Given the description of an element on the screen output the (x, y) to click on. 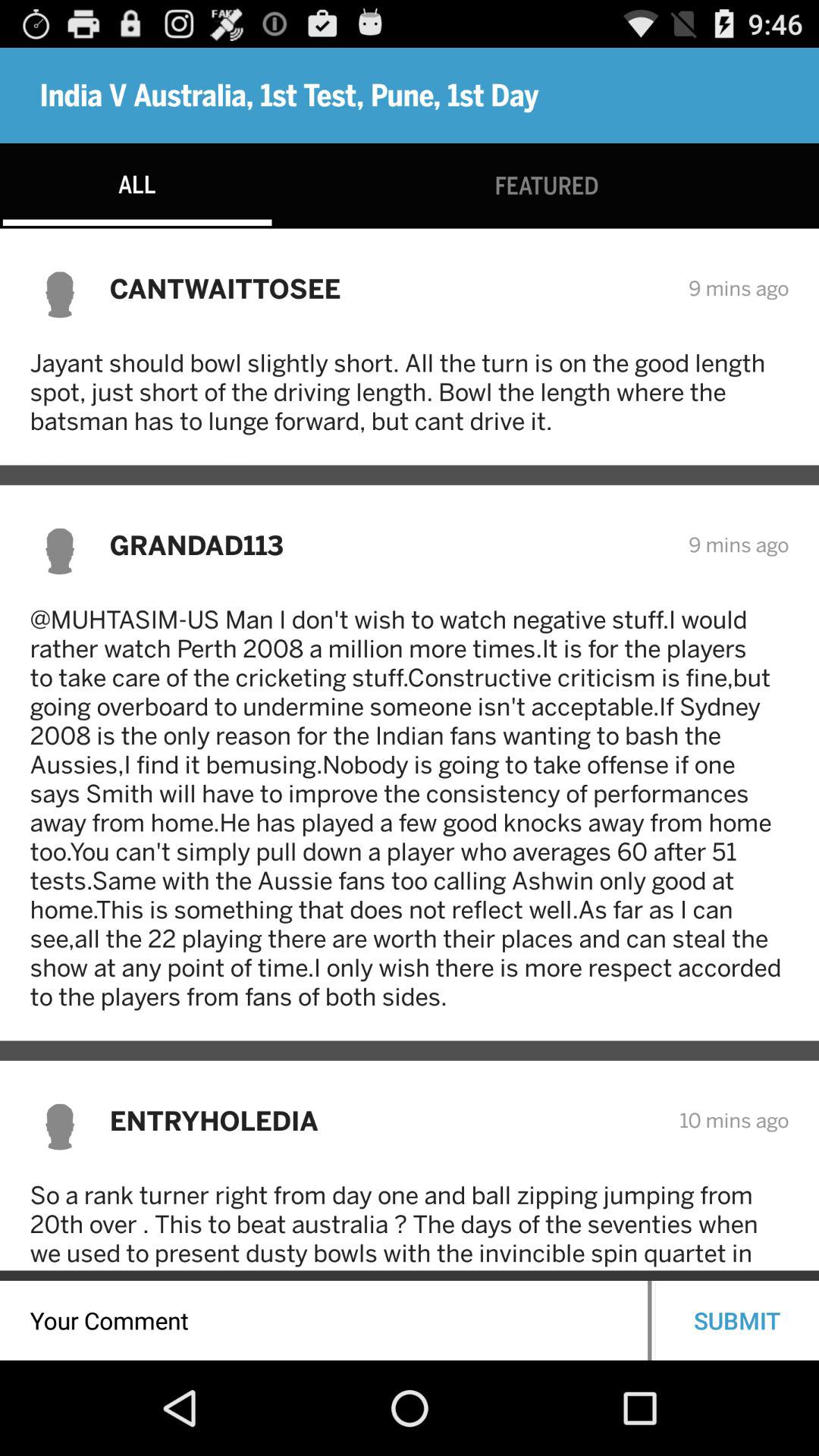
launch icon next to the 9 mins ago icon (388, 288)
